Given the description of an element on the screen output the (x, y) to click on. 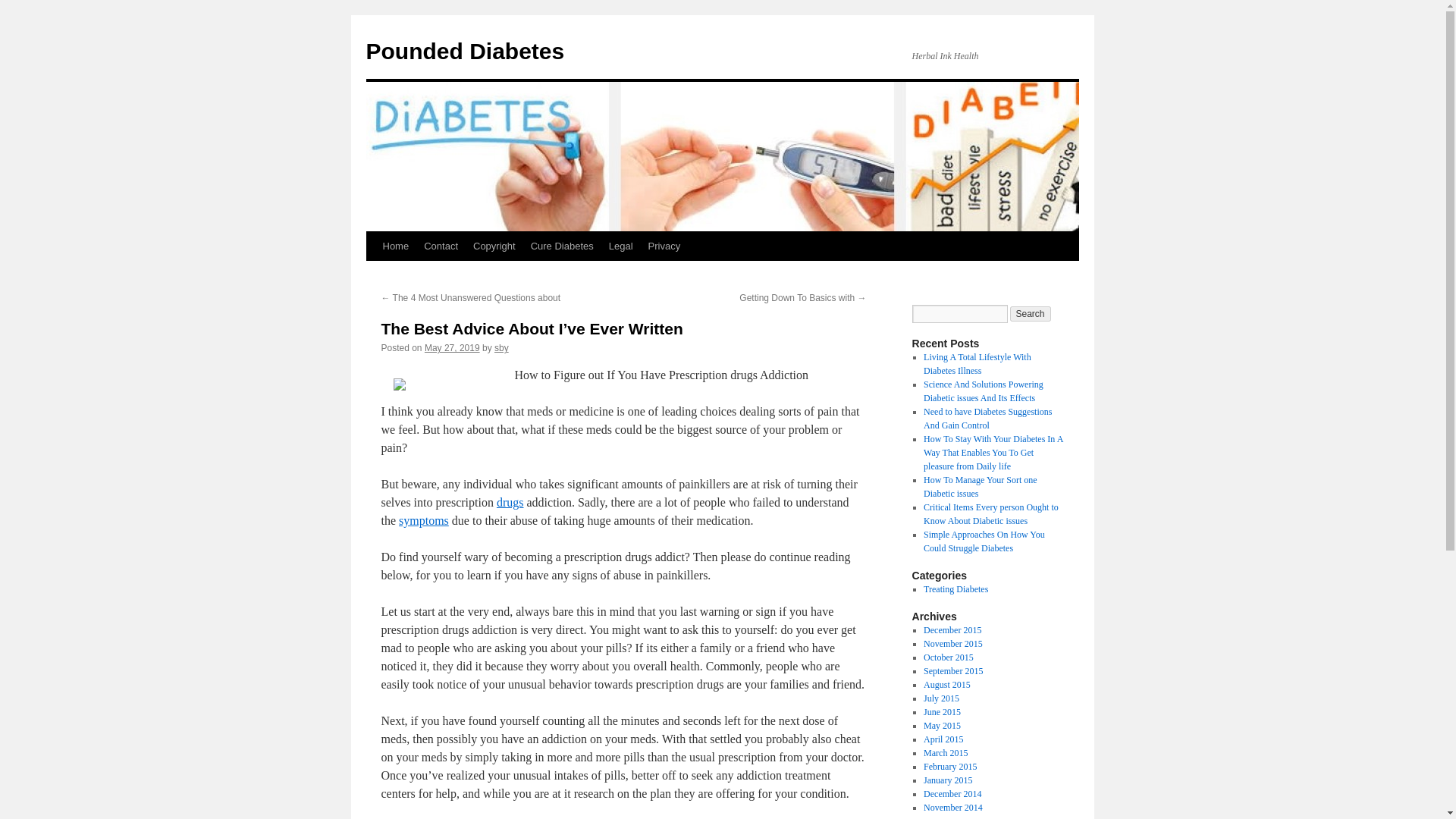
Search (1030, 313)
April 2015 (942, 738)
May 2015 (941, 725)
sby (501, 347)
November 2015 (952, 643)
February 2015 (949, 766)
Need to have Diabetes Suggestions And Gain Control (987, 418)
Contact (440, 246)
